Given the description of an element on the screen output the (x, y) to click on. 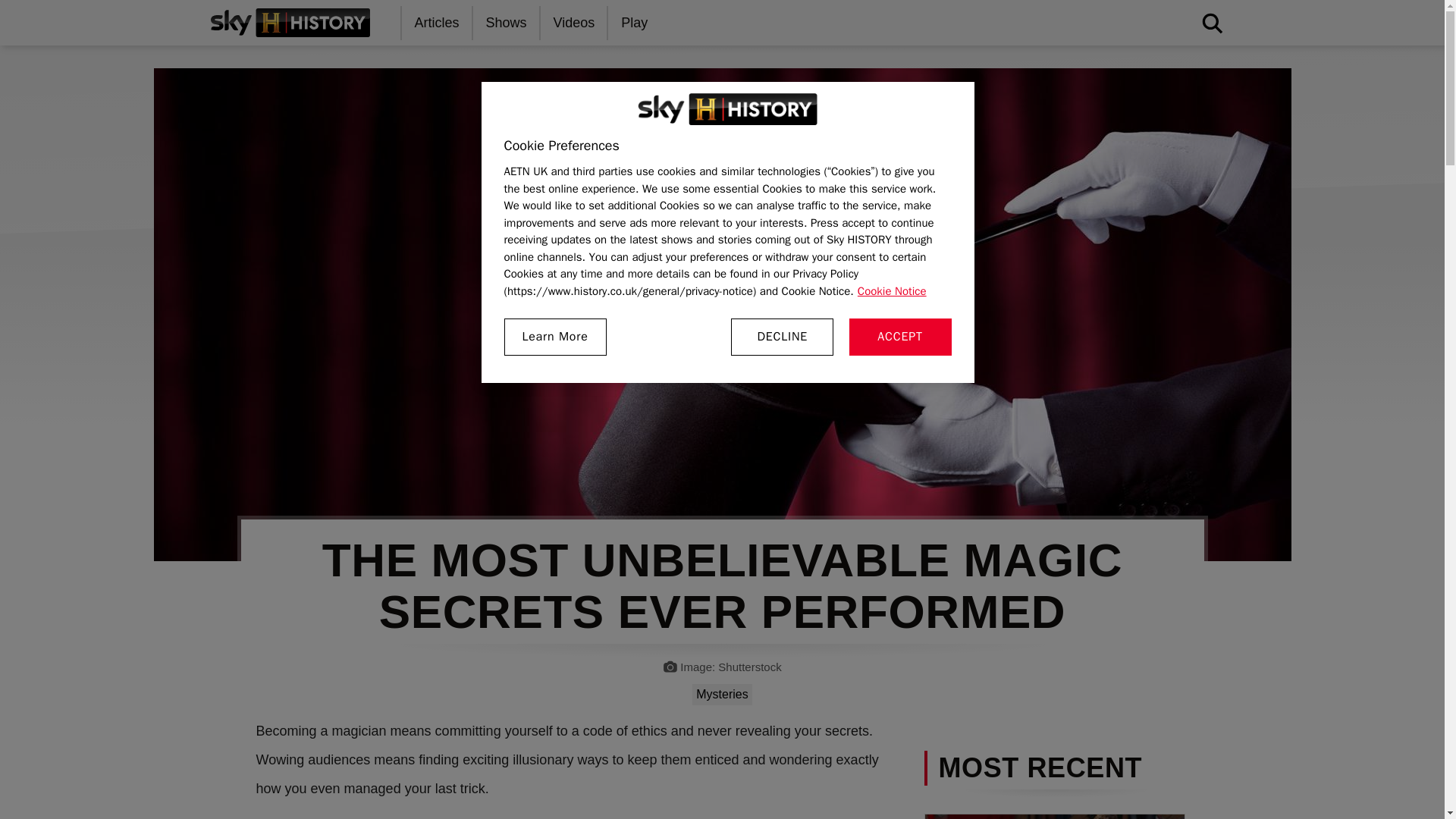
Shows (507, 22)
Play (635, 22)
Home (290, 22)
Mysteries (722, 694)
Search (987, 69)
Sky HISTORY (727, 109)
The history of gladiatorial games in Ancient Rome (1054, 816)
Videos (575, 22)
Articles (437, 22)
HISTORY Play - Stream the best of HISTORY (635, 22)
